Given the description of an element on the screen output the (x, y) to click on. 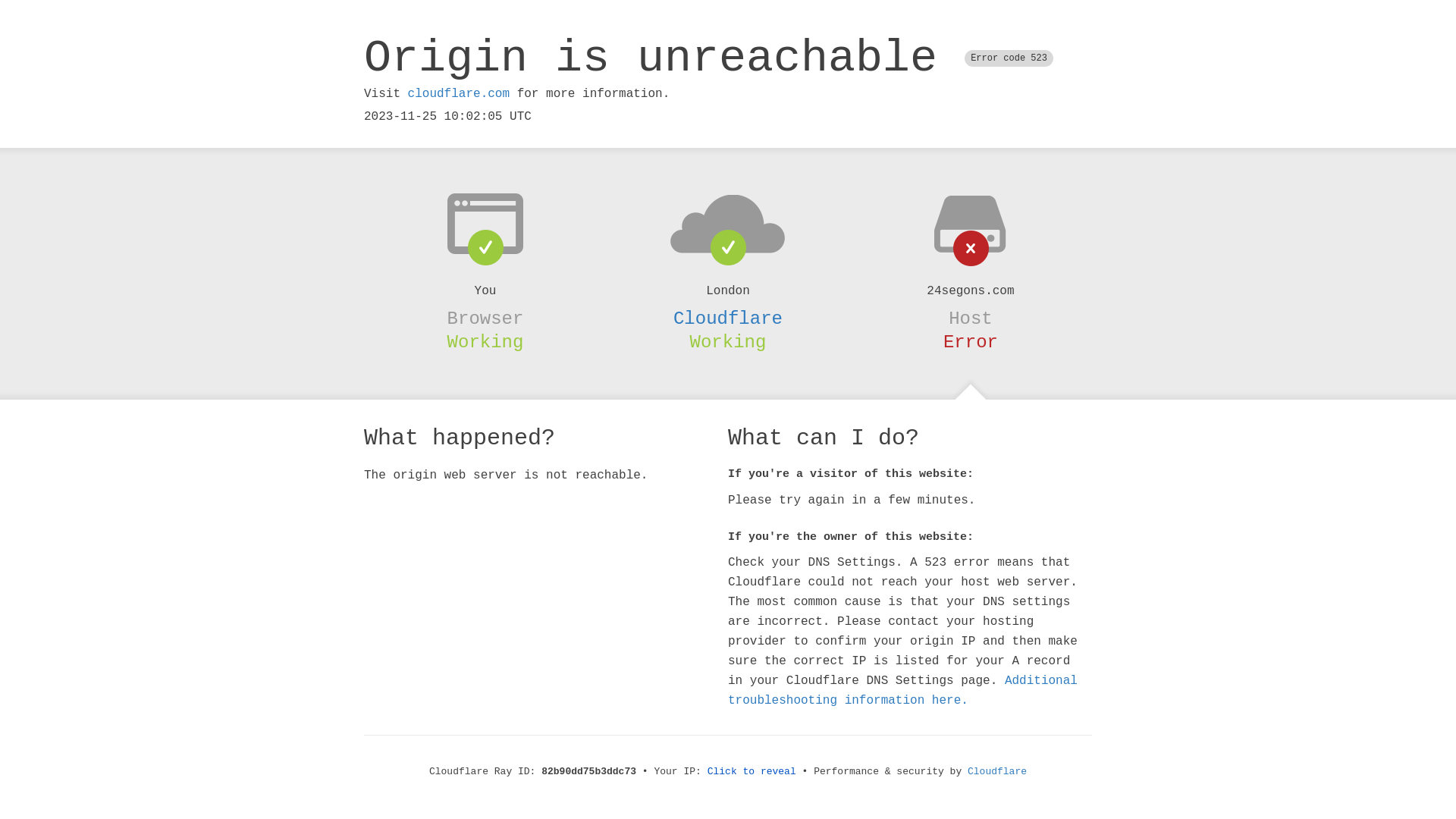
cloudflare.com Element type: text (458, 93)
Cloudflare Element type: text (996, 771)
Additional troubleshooting information here. Element type: text (902, 690)
Click to reveal Element type: text (751, 771)
Cloudflare Element type: text (727, 318)
